Given the description of an element on the screen output the (x, y) to click on. 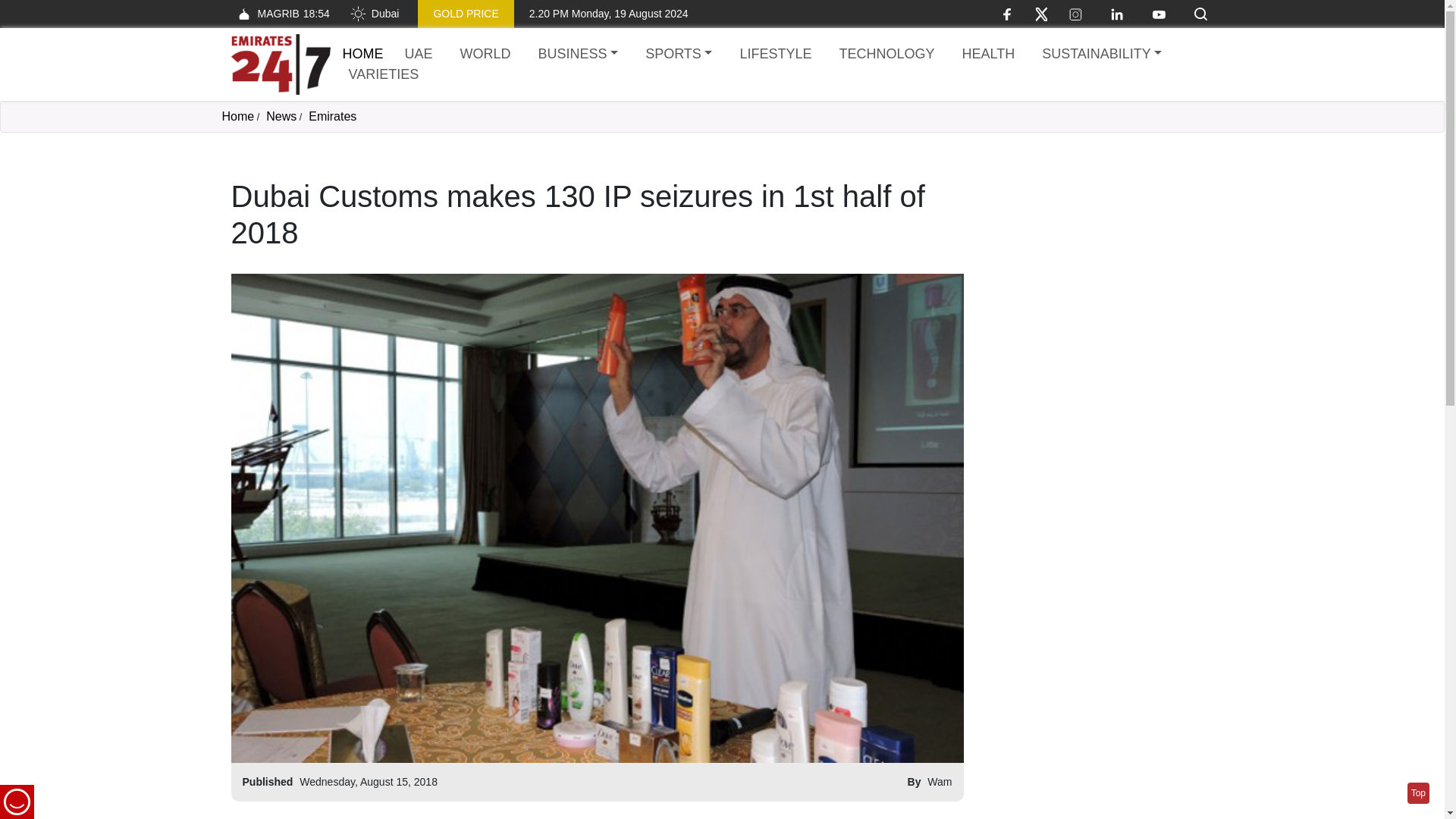
BUSINESS (578, 54)
LIFESTYLE (774, 54)
TECHNOLOGY (886, 54)
Home (363, 53)
WORLD (485, 54)
Dubai (374, 13)
UAE (418, 54)
GOLD PRICE (465, 13)
Home (237, 115)
HEALTH (987, 54)
